Given the description of an element on the screen output the (x, y) to click on. 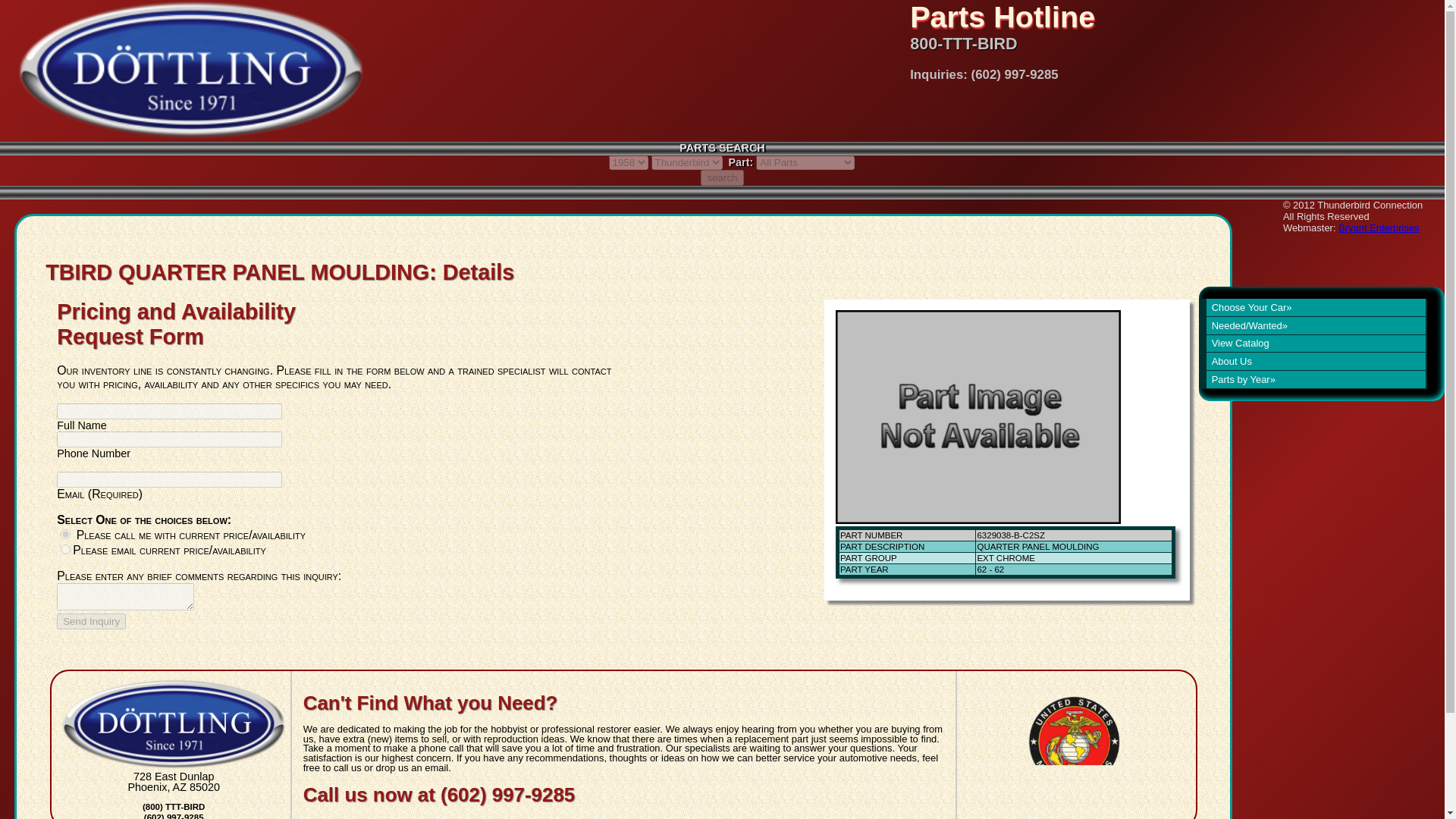
View Catalog (1312, 343)
Phone (65, 533)
Parts by Year (1312, 379)
About Us (1312, 361)
Choose Your Car (1312, 307)
Bryant Enterprises (1378, 227)
search (721, 177)
search (721, 177)
email (65, 549)
Thunderbird Connection Home (182, 69)
